Given the description of an element on the screen output the (x, y) to click on. 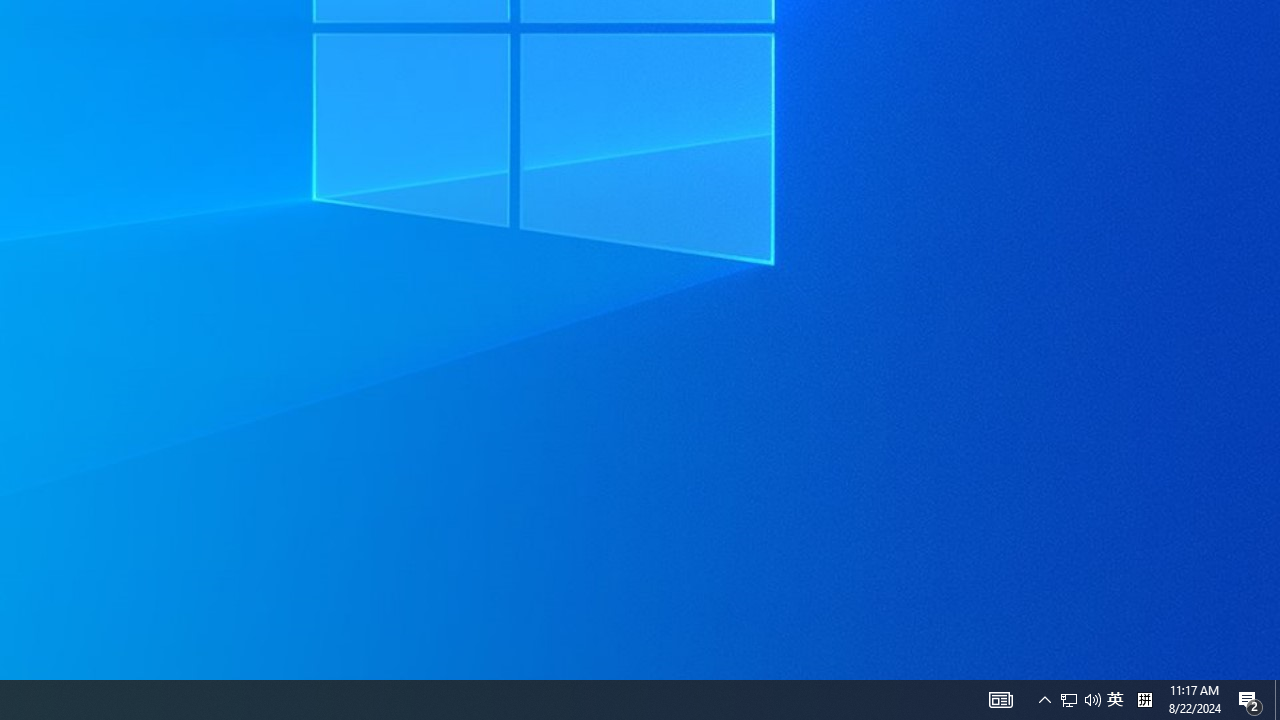
Action Center, 2 new notifications (1115, 699)
AutomationID: 4105 (1250, 699)
User Promoted Notification Area (1000, 699)
Tray Input Indicator - Chinese (Simplified, China) (1080, 699)
Show desktop (1144, 699)
Notification Chevron (1277, 699)
Q2790: 100% (1069, 699)
